Given the description of an element on the screen output the (x, y) to click on. 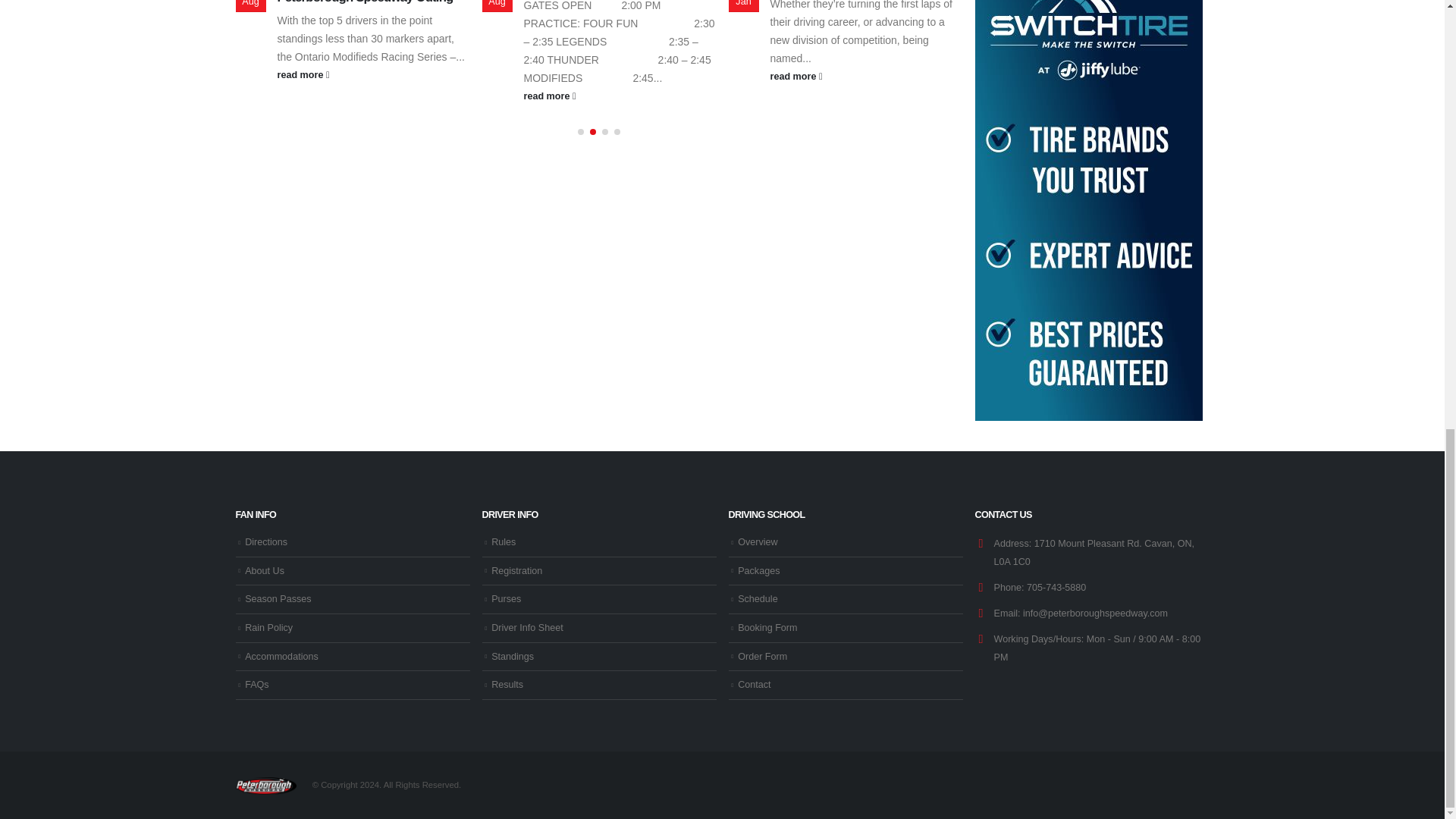
Peterborough Speedway -  (264, 784)
